Given the description of an element on the screen output the (x, y) to click on. 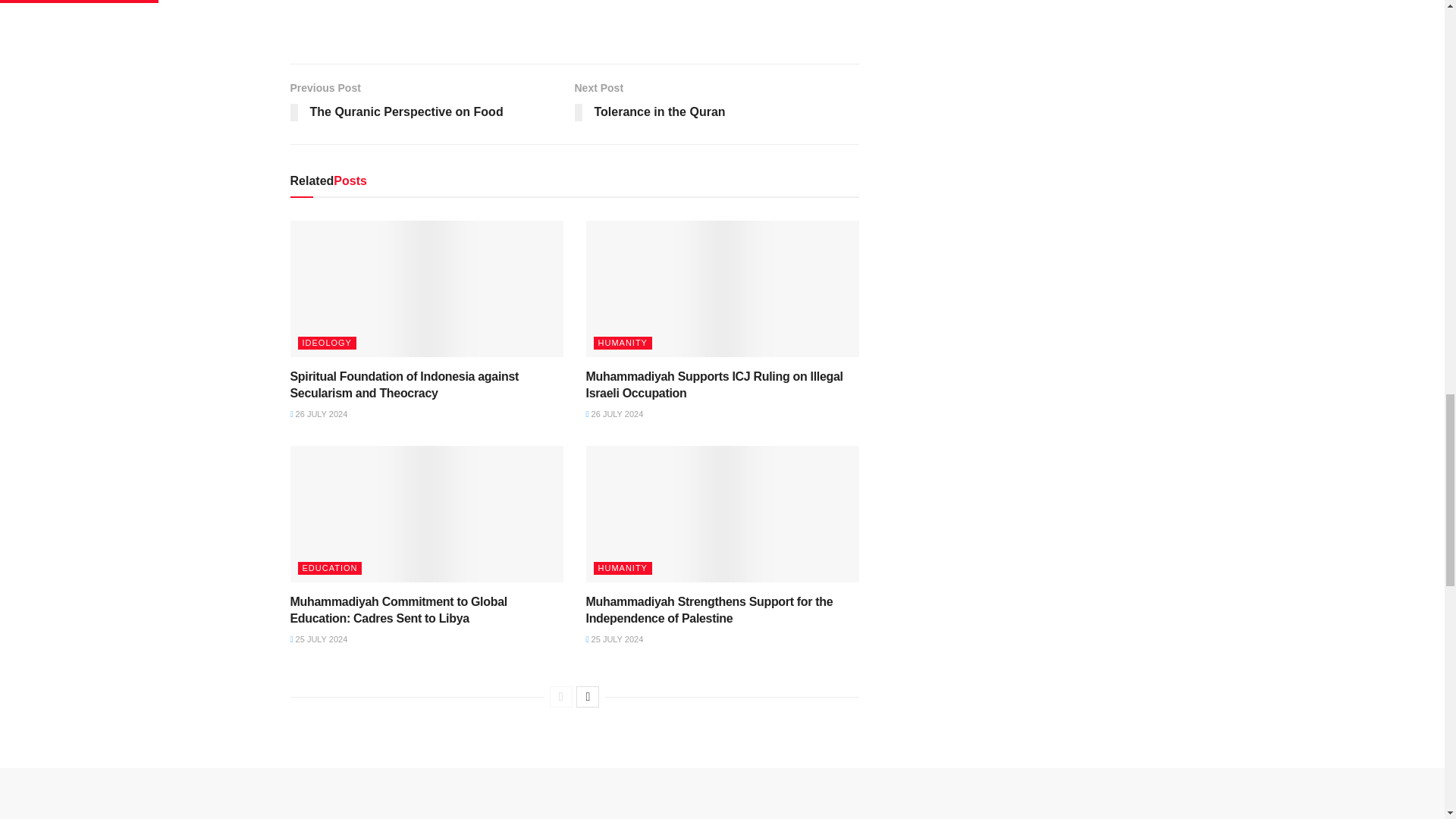
Next (587, 696)
Previous (561, 696)
